Given the description of an element on the screen output the (x, y) to click on. 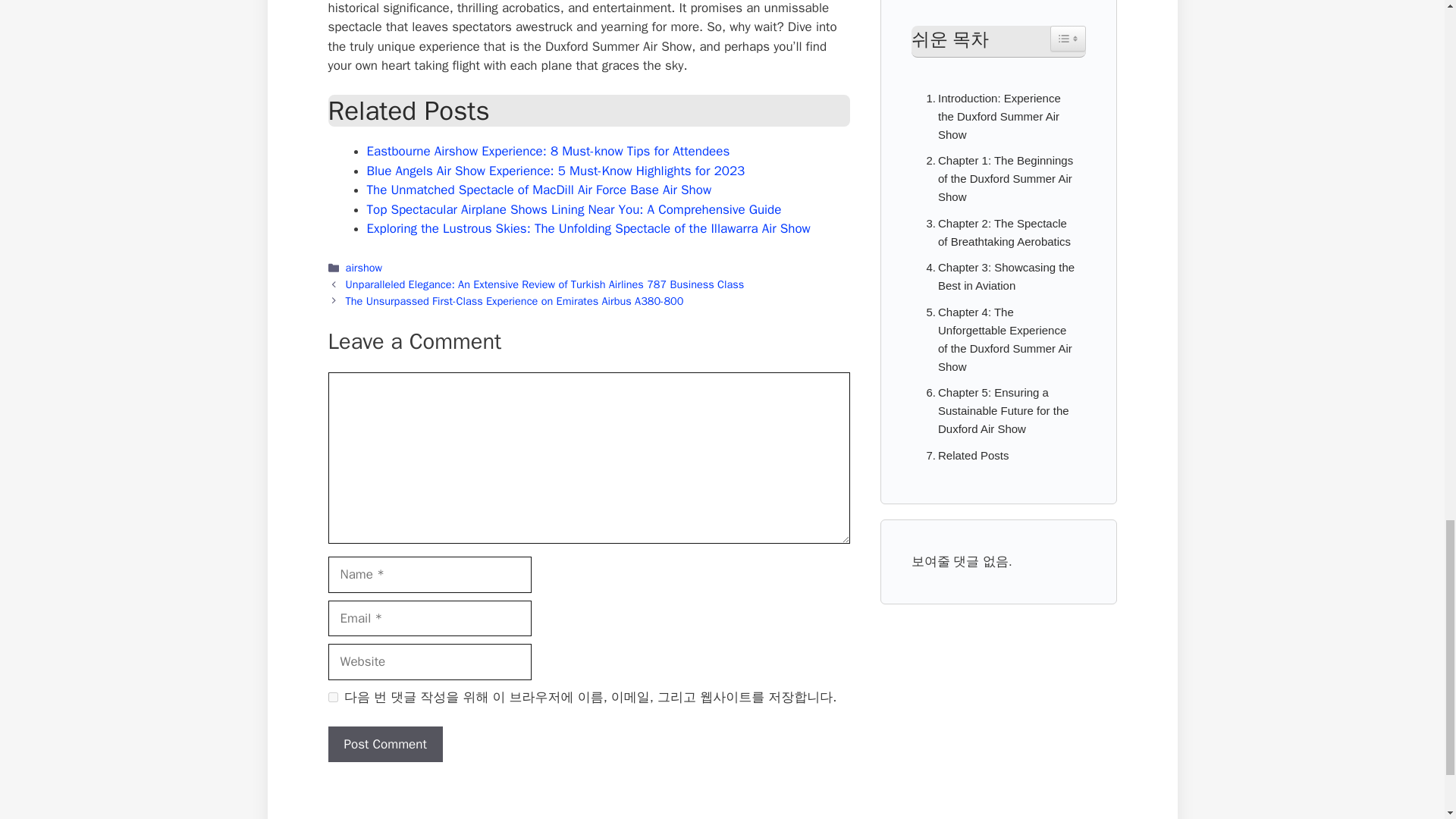
Introduction: Experience the Duxford Summer Air Show (998, 116)
Post Comment (384, 744)
Chapter 2: The Spectacle of Breathtaking Aerobatics (998, 231)
Chapter 3: Showcasing the Best in Aviation (998, 276)
yes (332, 696)
The Unmatched Spectacle of MacDill Air Force Base Air Show (538, 189)
Chapter 1: The Beginnings of the Duxford Summer Air Show (998, 178)
Related Posts (963, 454)
